Given the description of an element on the screen output the (x, y) to click on. 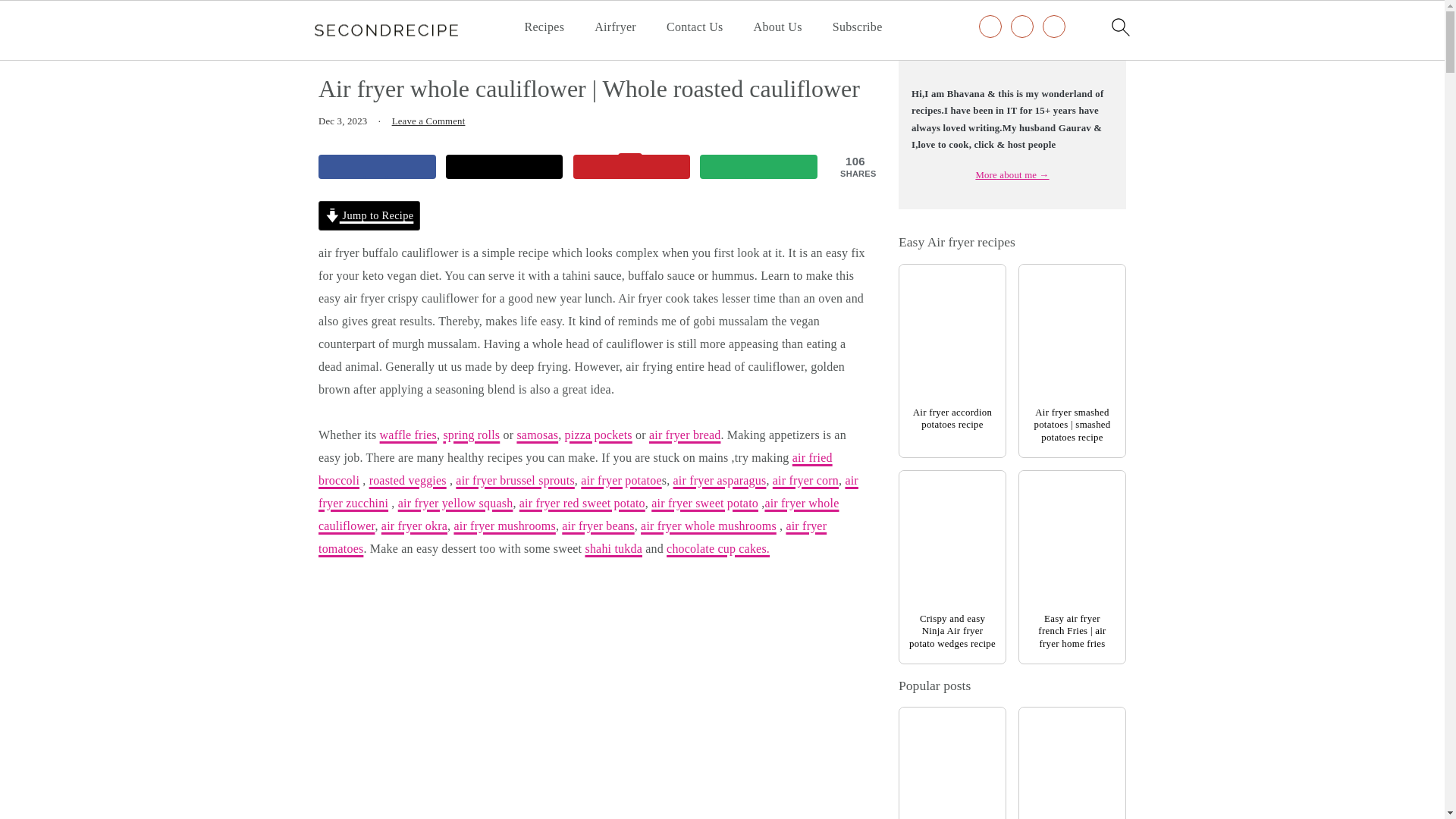
search icon (1119, 26)
Air fryer recipes (403, 50)
Send over email (758, 166)
Leave a Comment (428, 121)
Save to Pinterest (631, 166)
Recipes (544, 26)
About Us (778, 26)
Subscribe (857, 26)
Airfryer (615, 26)
Share on Facebook (376, 166)
Jump to Recipe (369, 215)
Contact Us (694, 26)
Share on X (504, 166)
Home (333, 50)
